Given the description of an element on the screen output the (x, y) to click on. 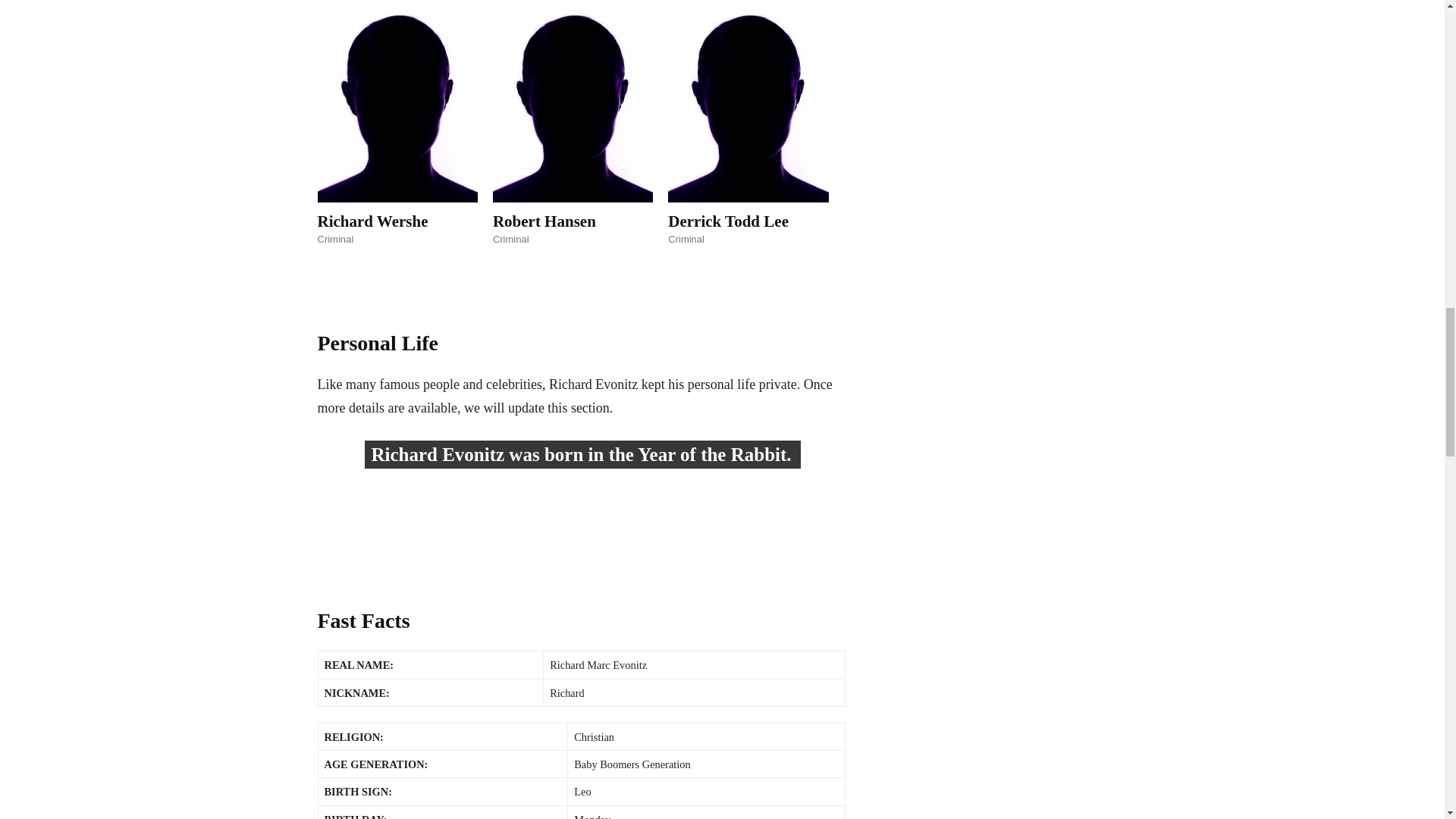
Richard Wershe (372, 221)
